Given the description of an element on the screen output the (x, y) to click on. 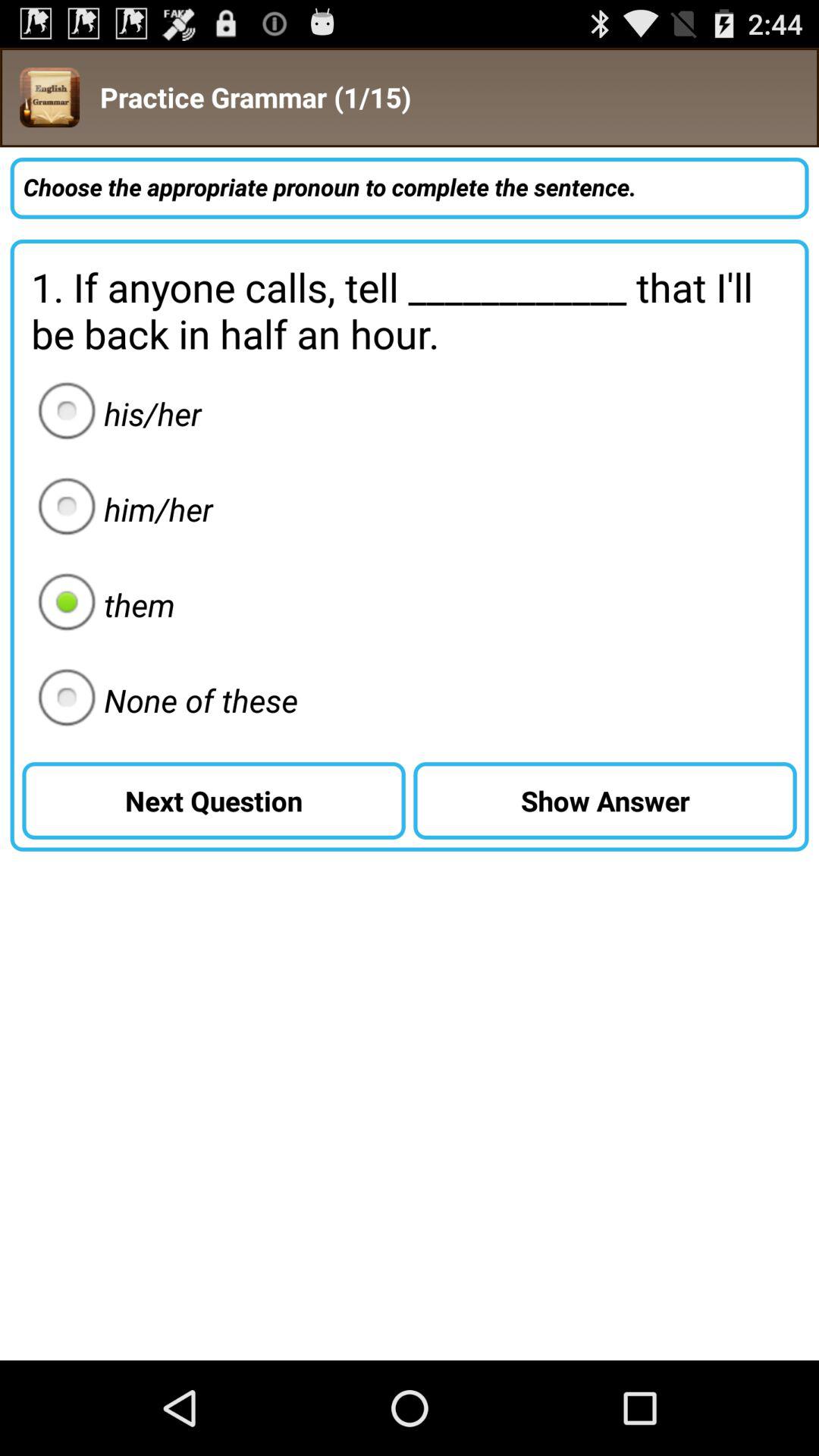
press icon next to the show answer button (163, 699)
